Given the description of an element on the screen output the (x, y) to click on. 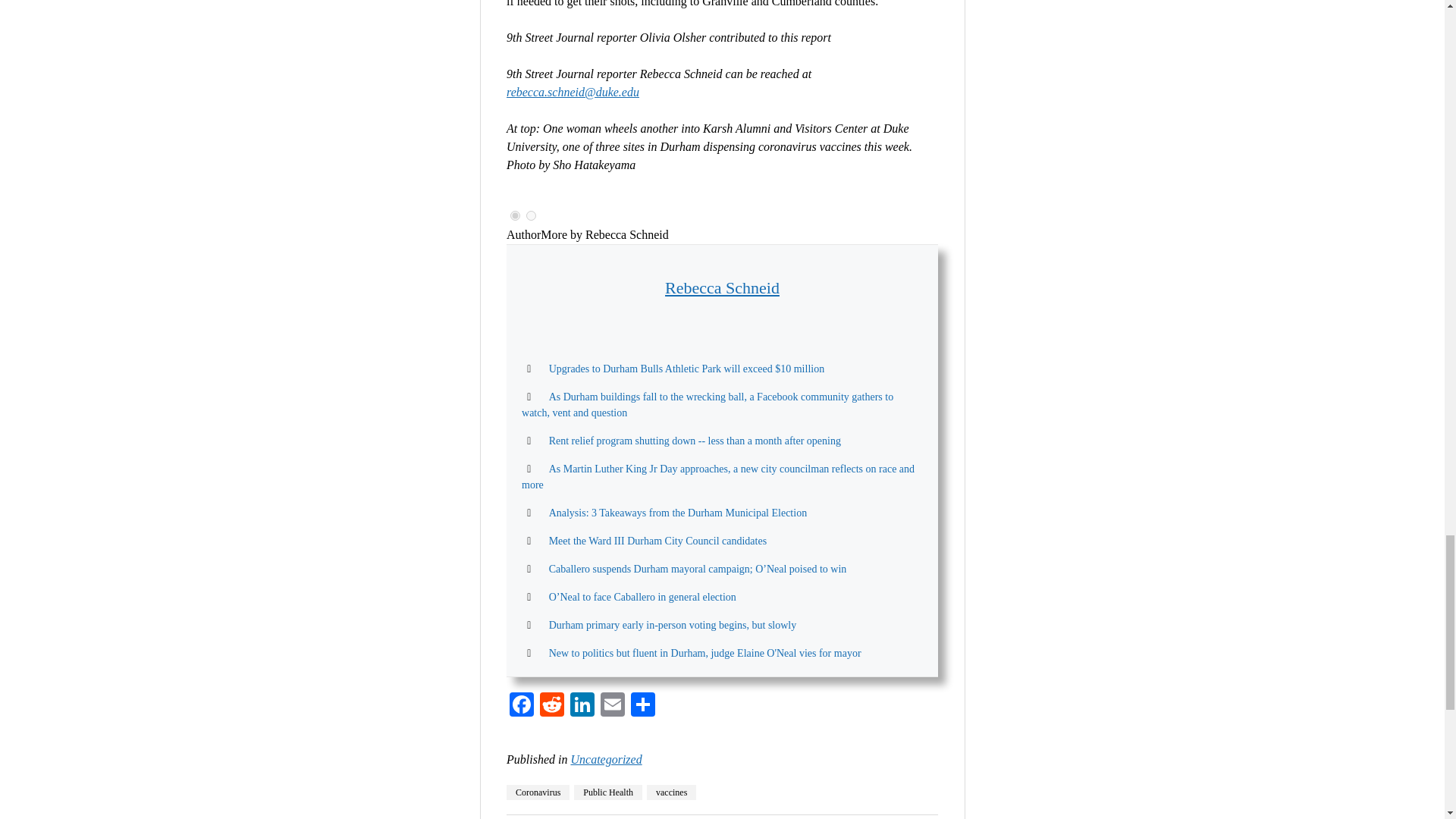
Analysis: 3 Takeaways from the Durham Municipal Election (678, 512)
View all posts tagged Public Health (607, 792)
Facebook (521, 706)
View all posts in Uncategorized (606, 758)
Rebecca Schneid (721, 287)
Reddit (552, 706)
Durham primary early in-person voting begins, but slowly (672, 624)
View all posts tagged vaccines (670, 792)
View all posts tagged Coronavirus (537, 792)
on (515, 215)
on (530, 215)
LinkedIn (581, 706)
Email (611, 706)
